Given the description of an element on the screen output the (x, y) to click on. 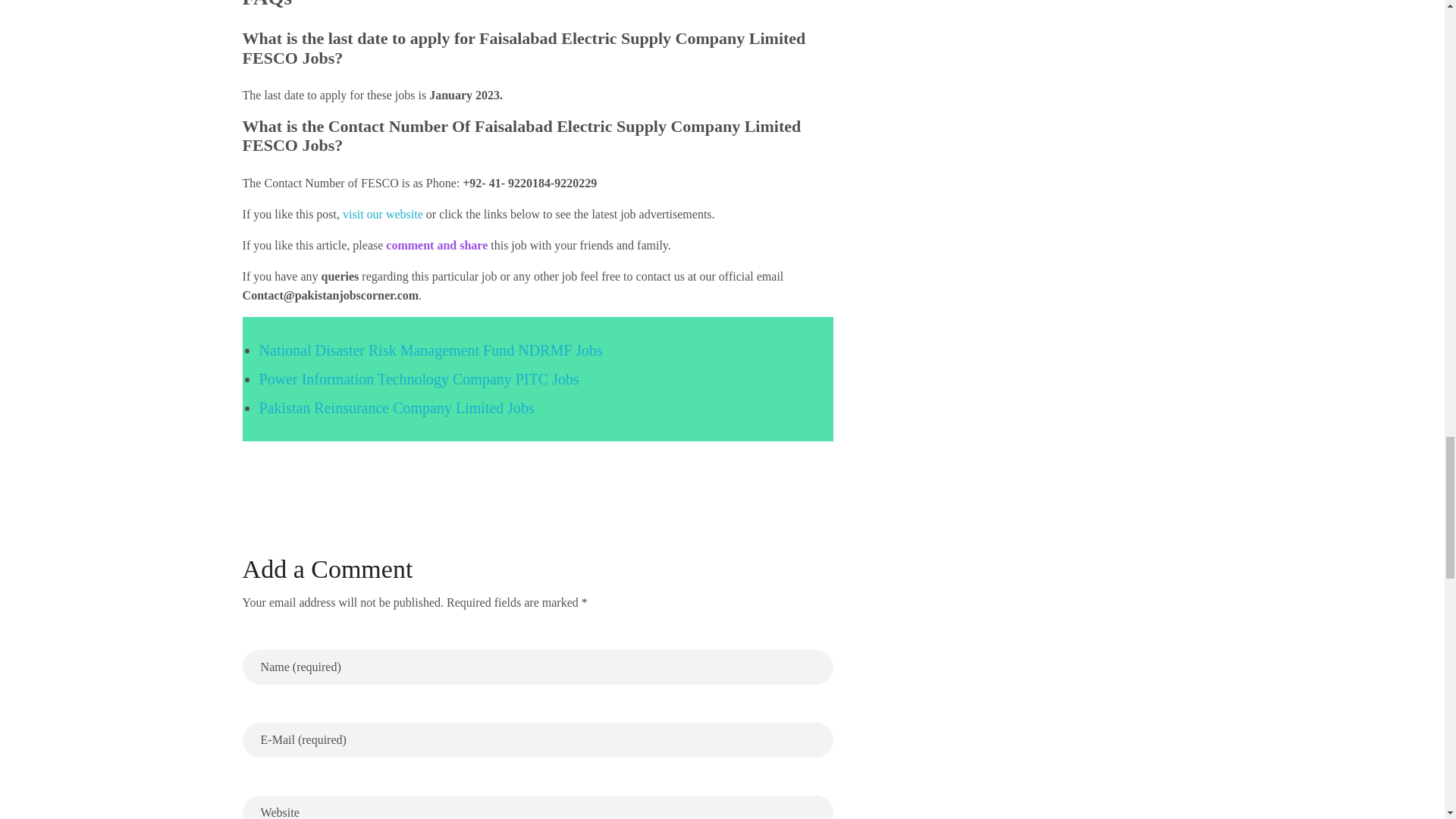
visit our website (382, 214)
National Disaster Risk Management Fund NDRMF Jobs (430, 350)
Pakistan Reinsurance Company Limited Jobs (396, 407)
Power Information Technology Company PITC Jobs (419, 379)
